Given the description of an element on the screen output the (x, y) to click on. 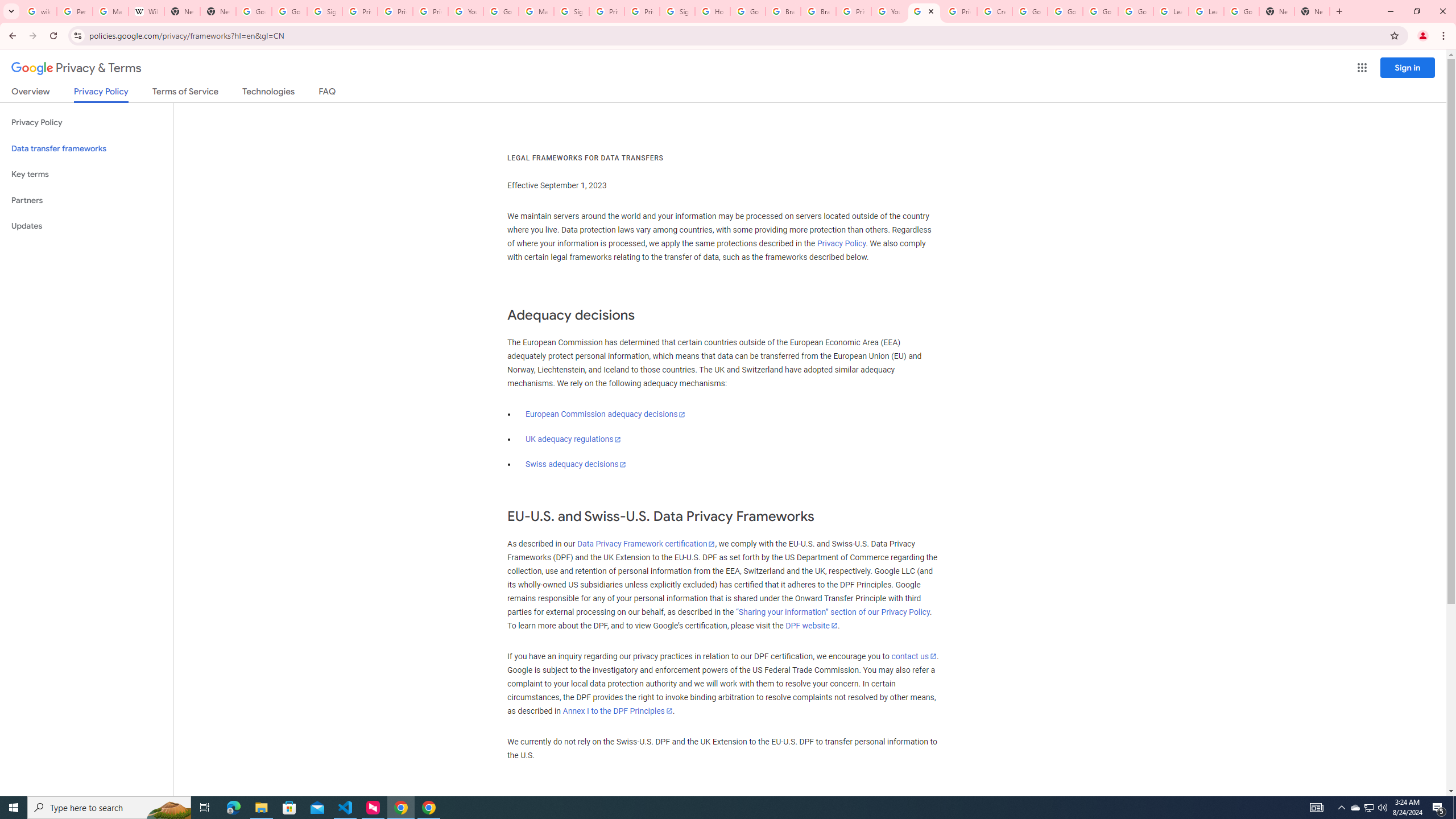
Google Account Help (501, 11)
Manage your Location History - Google Search Help (110, 11)
Annex I to the DPF Principles (617, 710)
Google Account Help (1099, 11)
